Given the description of an element on the screen output the (x, y) to click on. 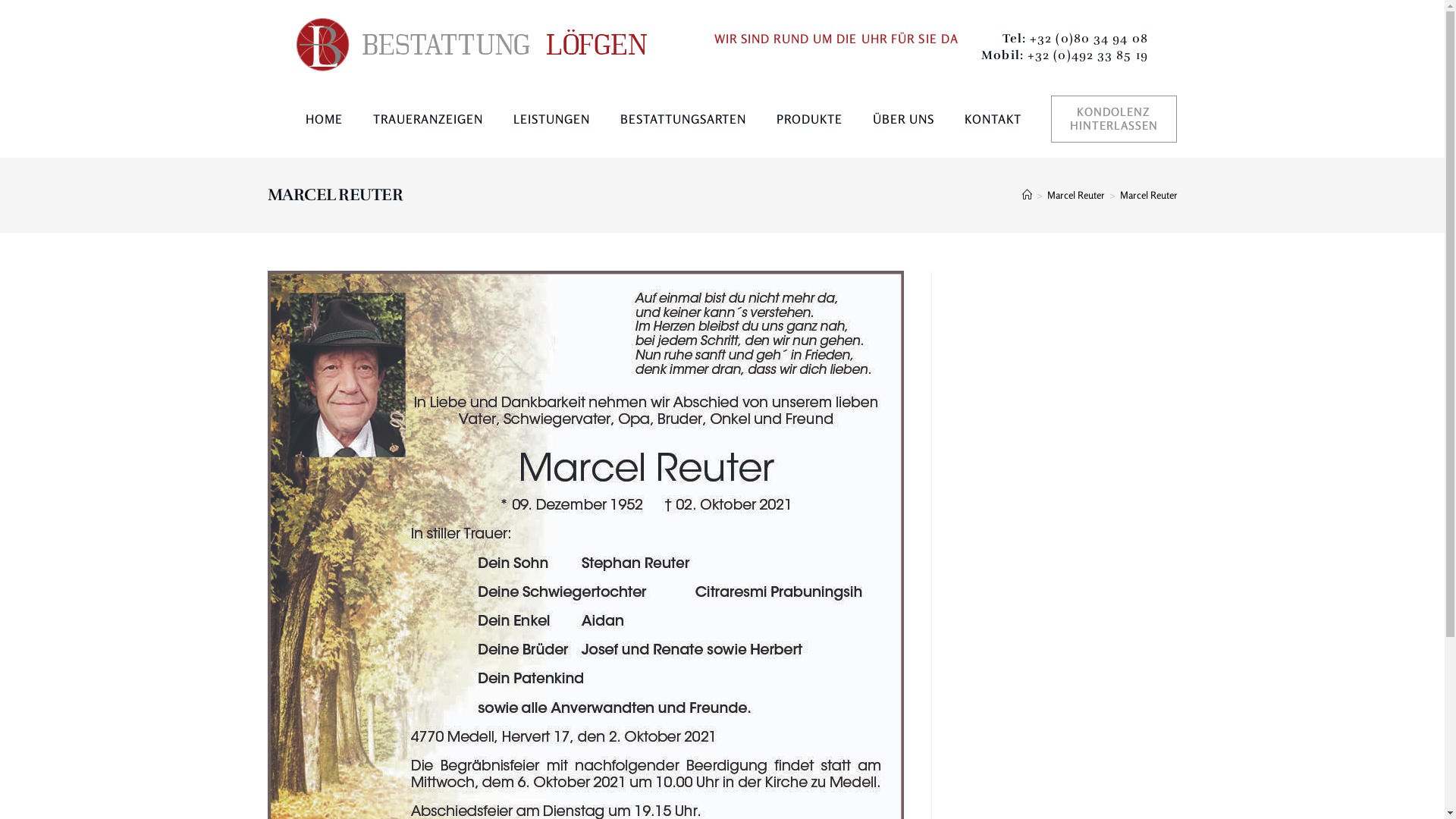
HOME Element type: text (323, 118)
KONTAKT Element type: text (992, 118)
LEISTUNGEN Element type: text (550, 118)
cropped-LogoHeaderLang2-2.png Element type: hover (470, 44)
Marcel Reuter Element type: text (1147, 194)
KONDOLENZ HINTERLASSEN Element type: text (1113, 118)
TRAUERANZEIGEN Element type: text (427, 118)
BESTATTUNGSARTEN Element type: text (683, 118)
Marcel Reuter Element type: text (1075, 194)
PRODUKTE Element type: text (809, 118)
